Given the description of an element on the screen output the (x, y) to click on. 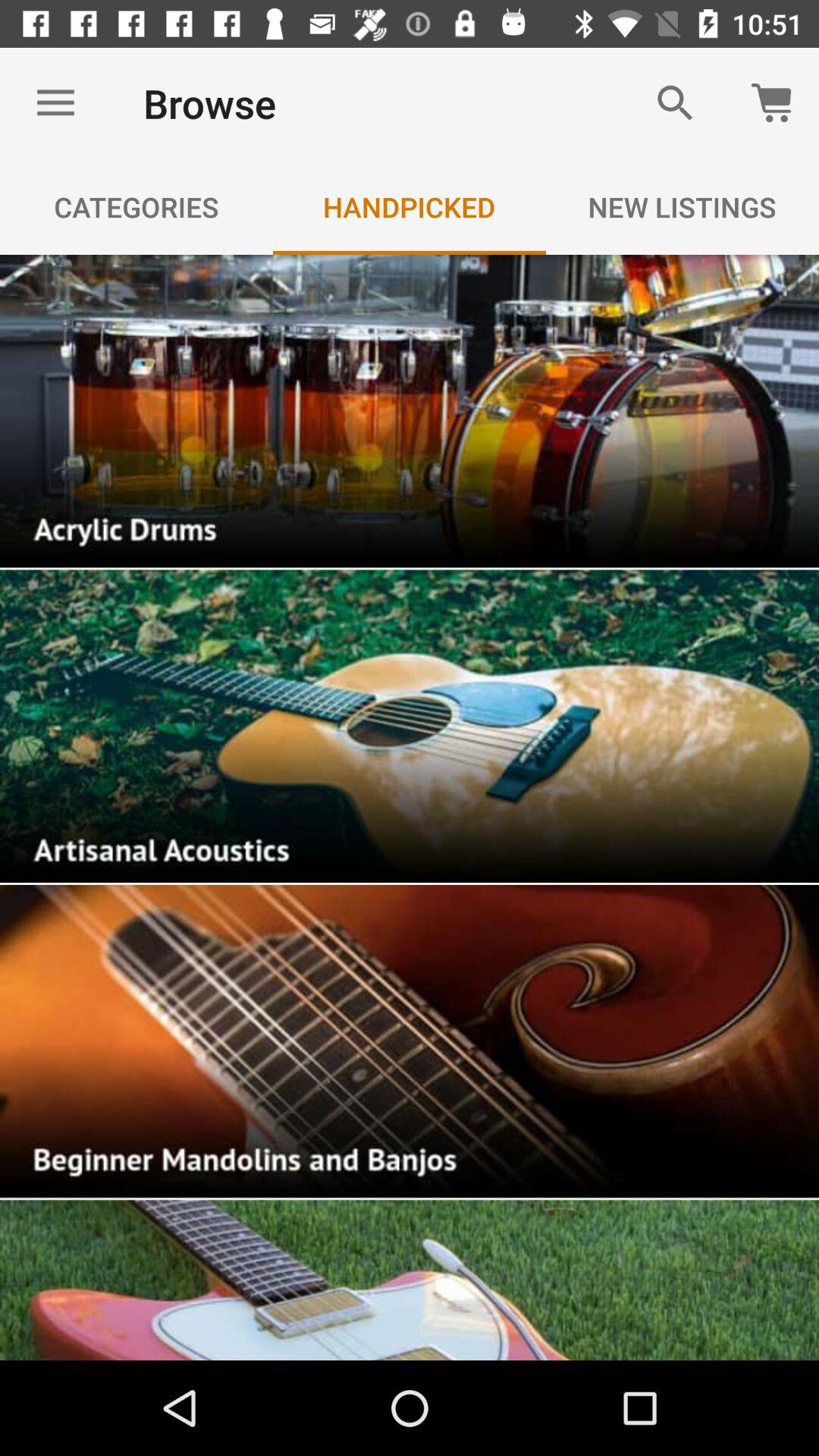
click on the search button at top right (675, 103)
